Given the description of an element on the screen output the (x, y) to click on. 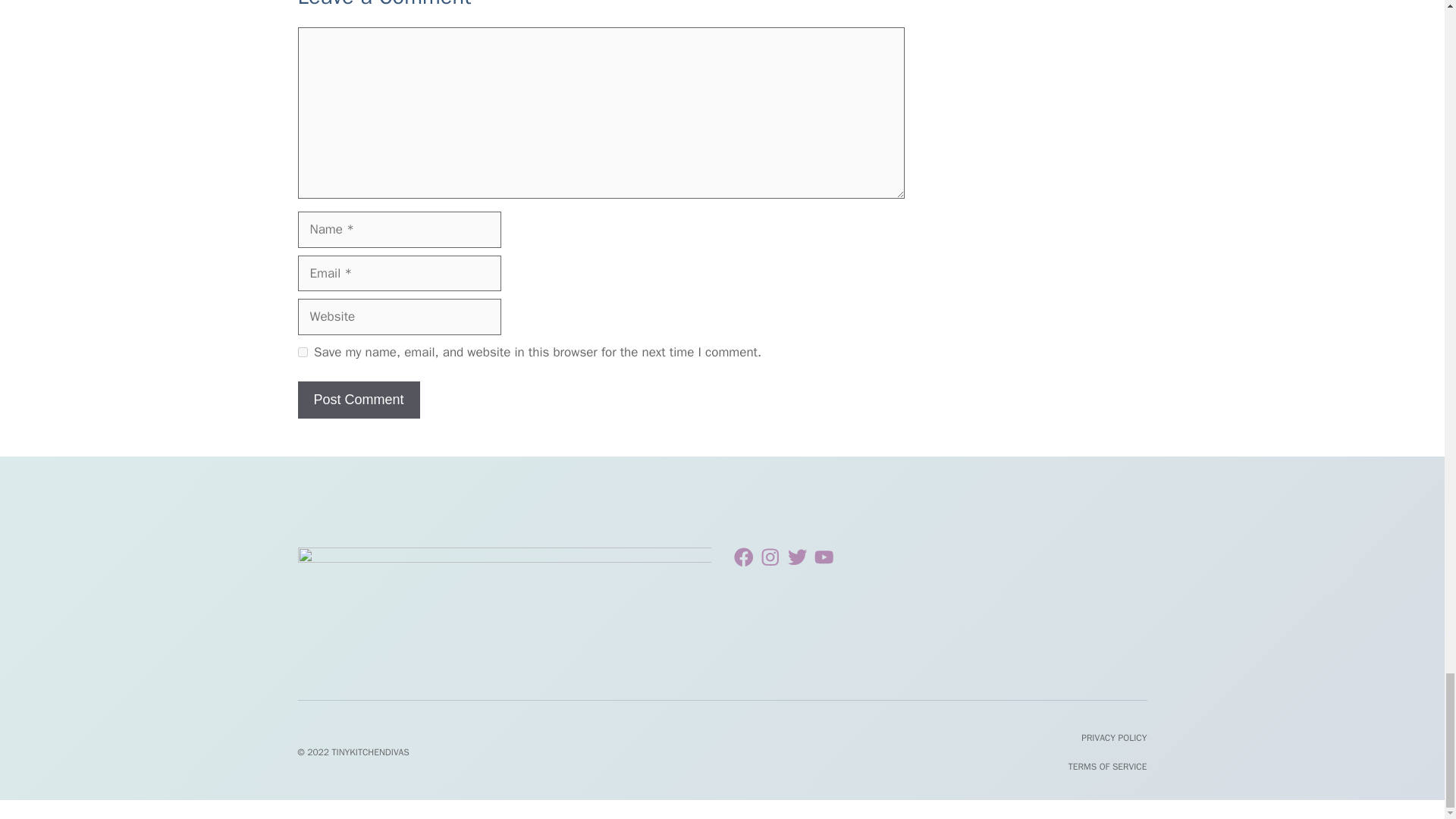
yes (302, 352)
Post Comment (358, 399)
Post Comment (358, 399)
